Given the description of an element on the screen output the (x, y) to click on. 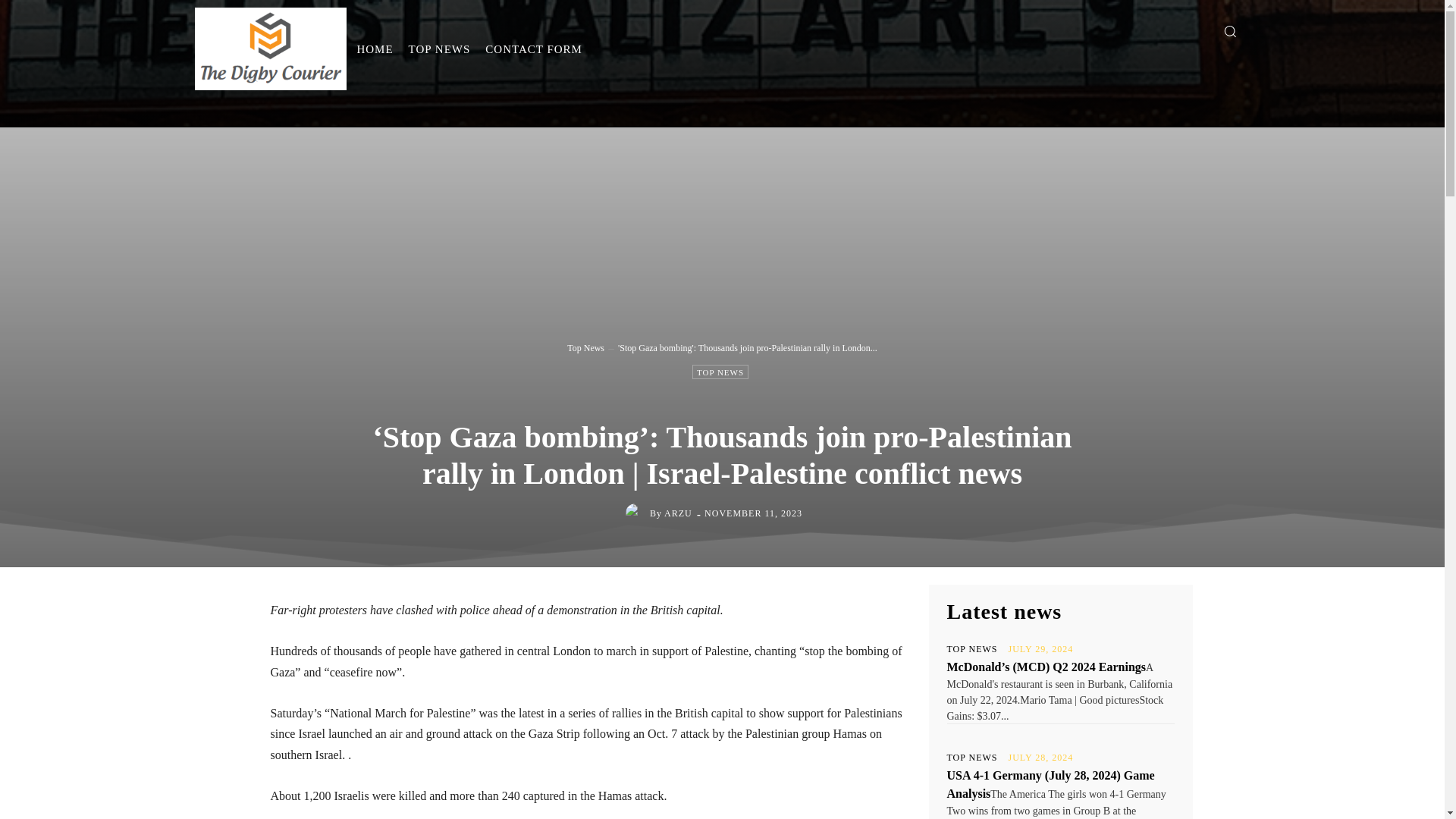
Top News (585, 347)
HOME (374, 49)
TOP NEWS (971, 648)
TOP NEWS (720, 371)
ARZU (678, 512)
View all posts in Top News (585, 347)
Arzu (637, 513)
TOP NEWS (971, 757)
TOP NEWS (440, 49)
CONTACT FORM (533, 49)
